Given the description of an element on the screen output the (x, y) to click on. 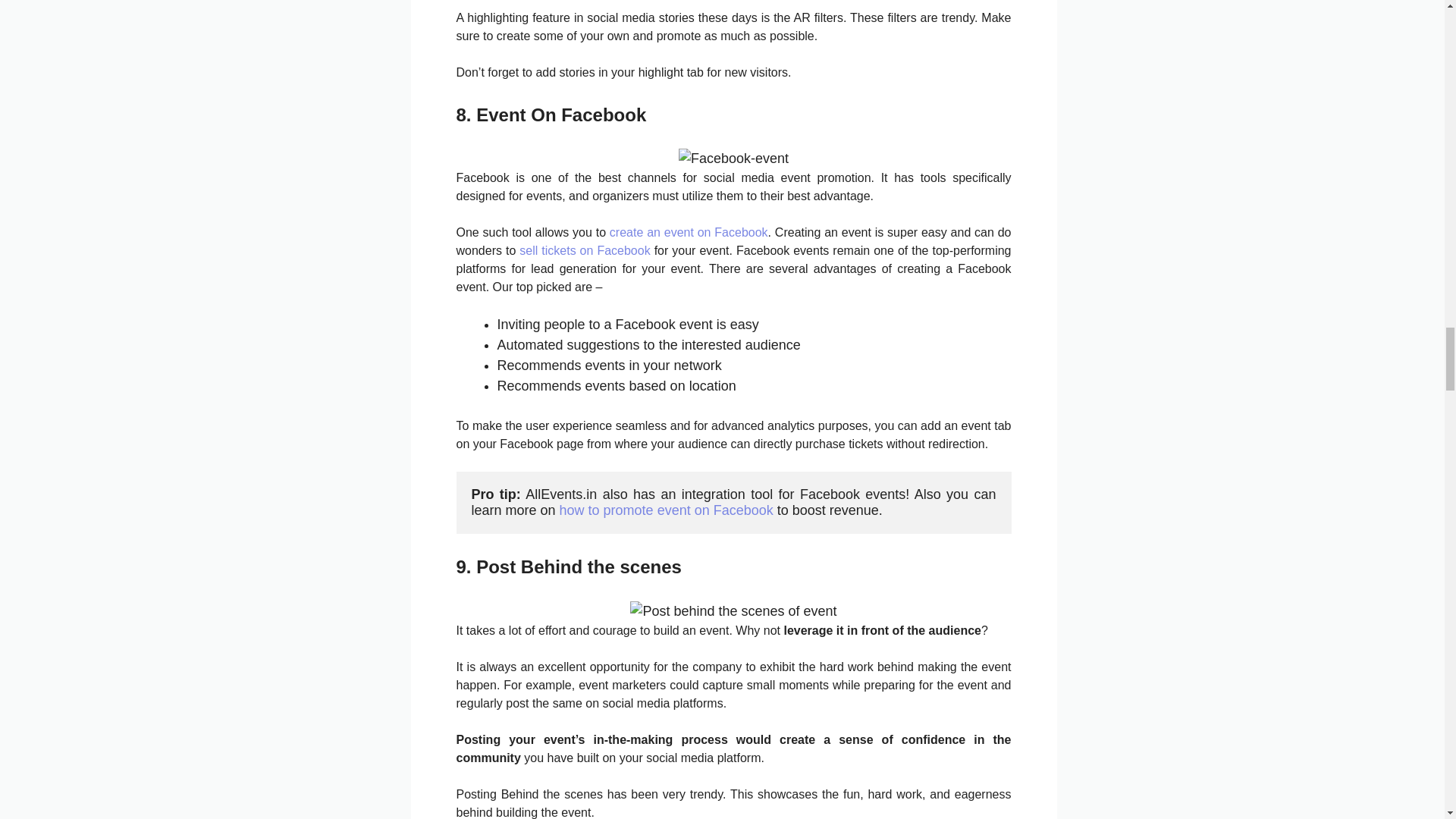
Post behind the scenes of event (732, 611)
event promotion through Facebook event (733, 158)
how to promote event on Facebook (666, 509)
create an event on Facebook (689, 232)
sell tickets on Facebook (584, 250)
